Given the description of an element on the screen output the (x, y) to click on. 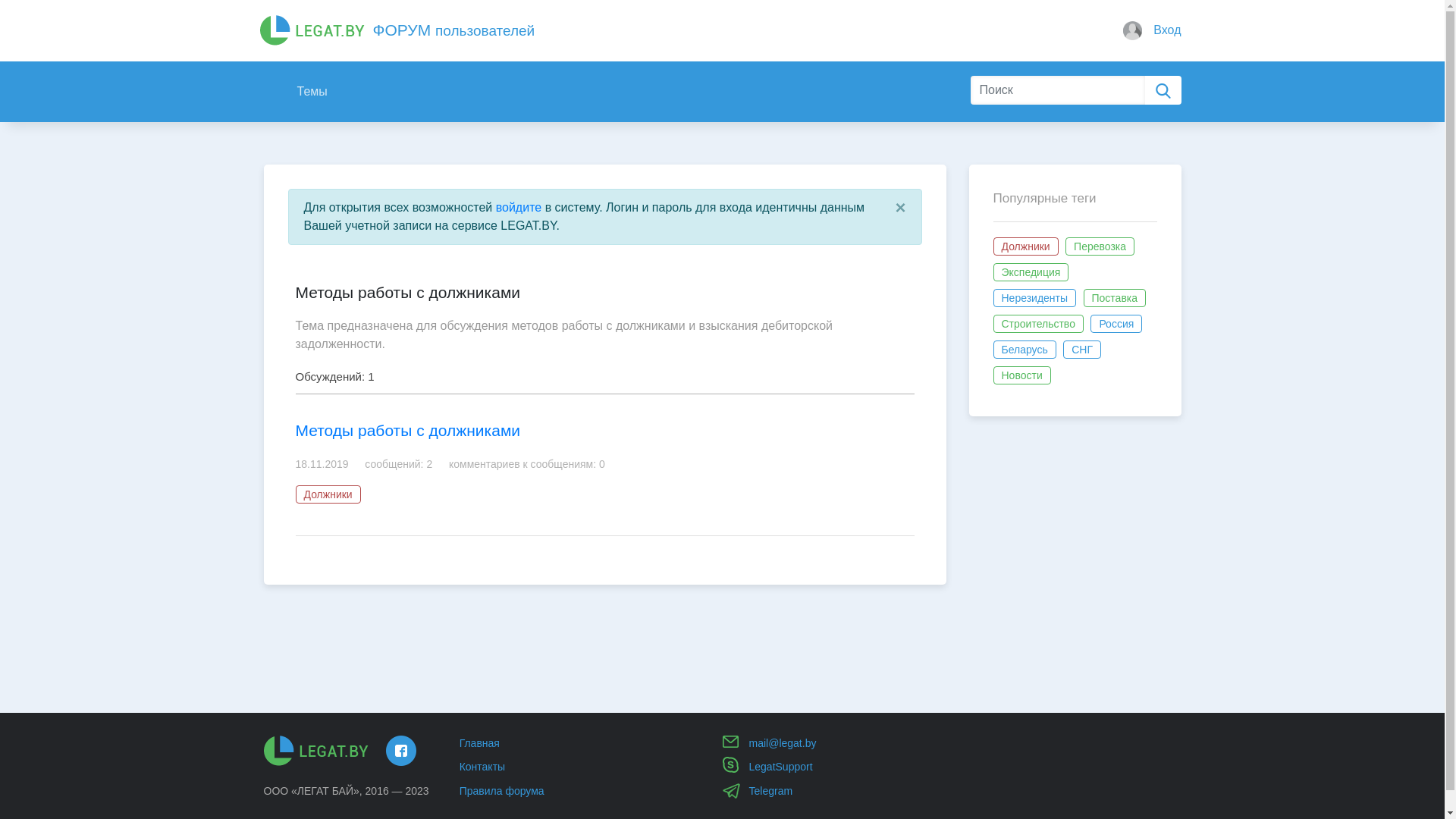
legat.by Element type: hover (315, 750)
Facebook Element type: hover (400, 750)
LegatSupport Element type: text (780, 766)
Telegram Element type: text (771, 790)
mail@legat.by Element type: text (782, 743)
